Given the description of an element on the screen output the (x, y) to click on. 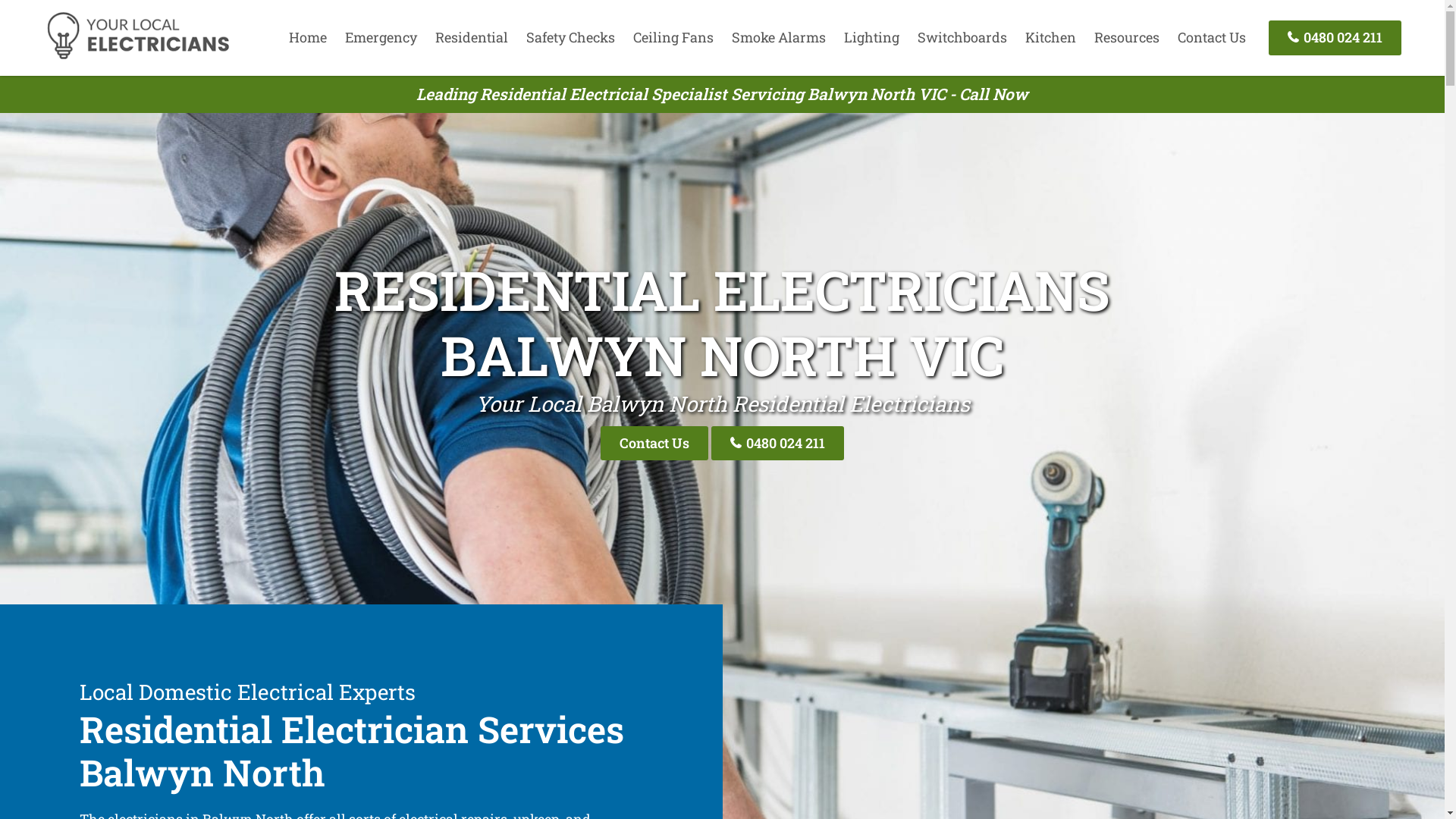
Electricians Element type: hover (137, 56)
Kitchen Element type: text (1050, 37)
Resources Element type: text (1126, 37)
Smoke Alarms Element type: text (778, 37)
Home Element type: text (307, 37)
Emergency Element type: text (380, 37)
Residential Element type: text (471, 37)
Switchboards Element type: text (962, 37)
Lighting Element type: text (871, 37)
Safety Checks Element type: text (570, 37)
Contact Us Element type: text (1211, 37)
Ceiling Fans Element type: text (673, 37)
0480 024 211 Element type: text (777, 443)
Contact Us Element type: text (654, 443)
0480 024 211 Element type: text (1334, 37)
